Given the description of an element on the screen output the (x, y) to click on. 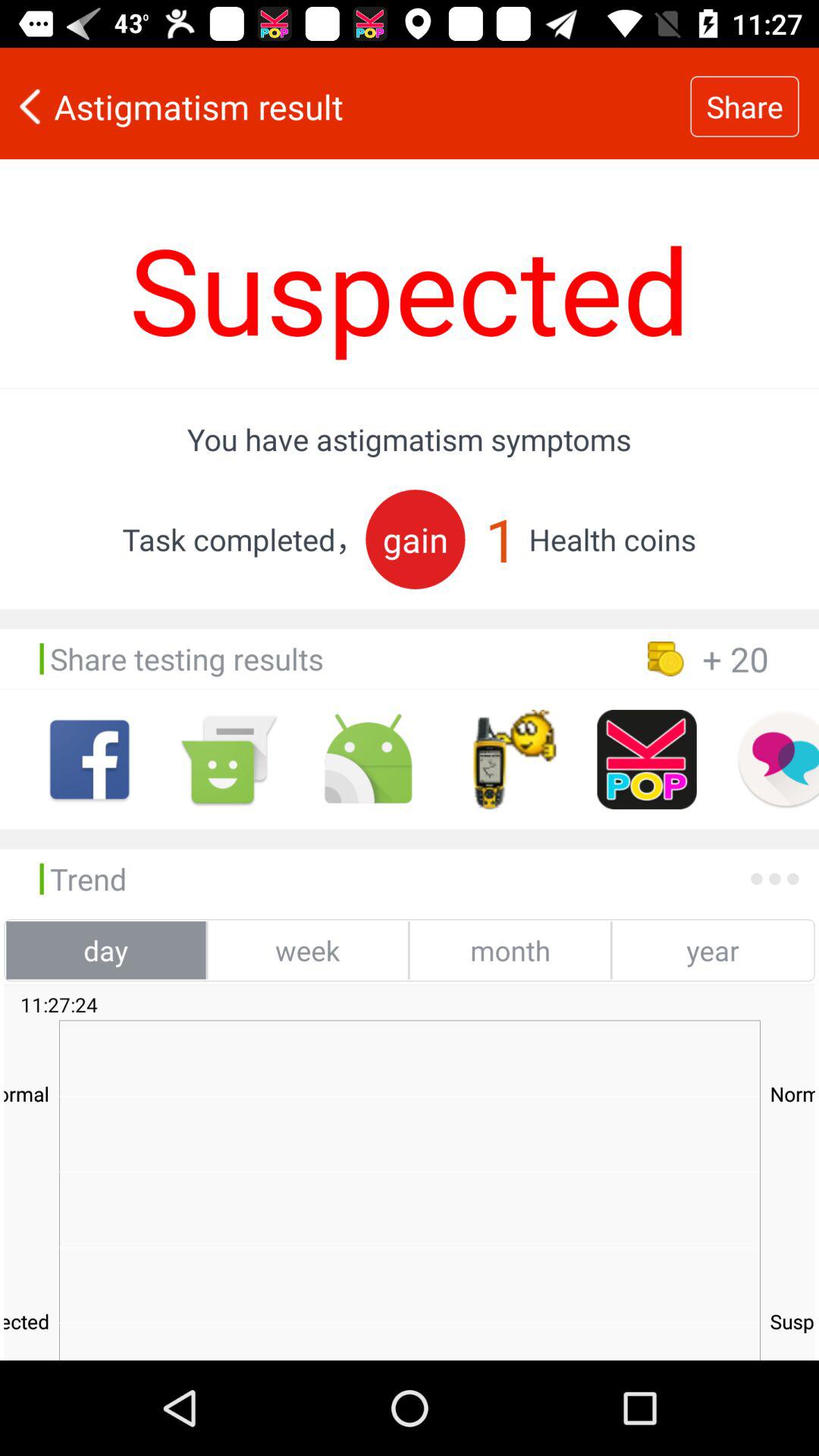
turn on item below you have astigmatism icon (415, 539)
